Given the description of an element on the screen output the (x, y) to click on. 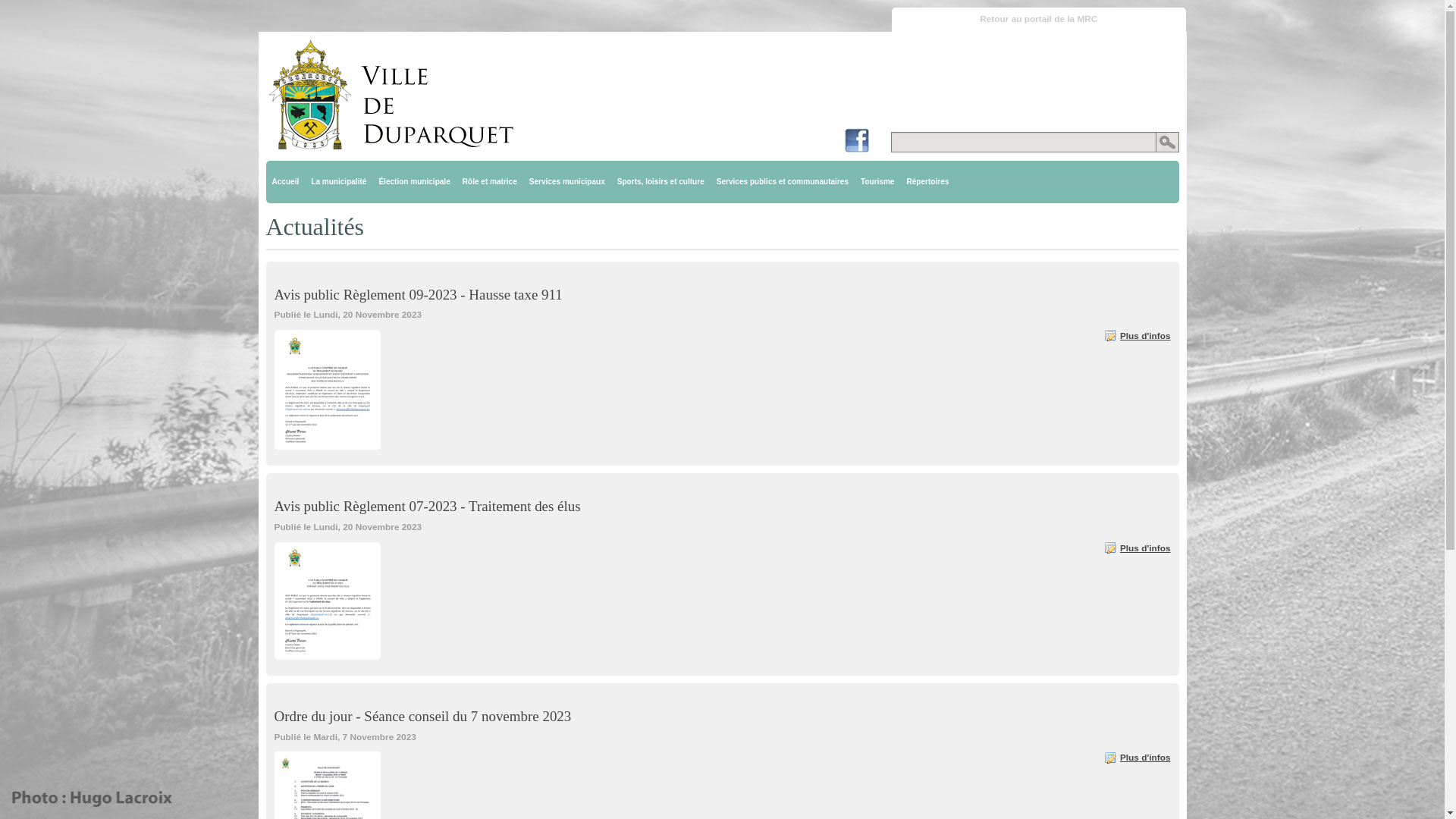
Accueil Element type: text (284, 181)
Plus d'infos Element type: text (1137, 335)
Services municipaux Element type: text (567, 181)
Tourisme Element type: text (877, 181)
Plus d'infos Element type: text (1137, 757)
Plus d'infos Element type: text (1137, 548)
Services publics et communautaires Element type: text (782, 181)
Sports, loisirs et culture Element type: text (660, 181)
Retour au portail de la MRC Element type: text (1038, 19)
